Given the description of an element on the screen output the (x, y) to click on. 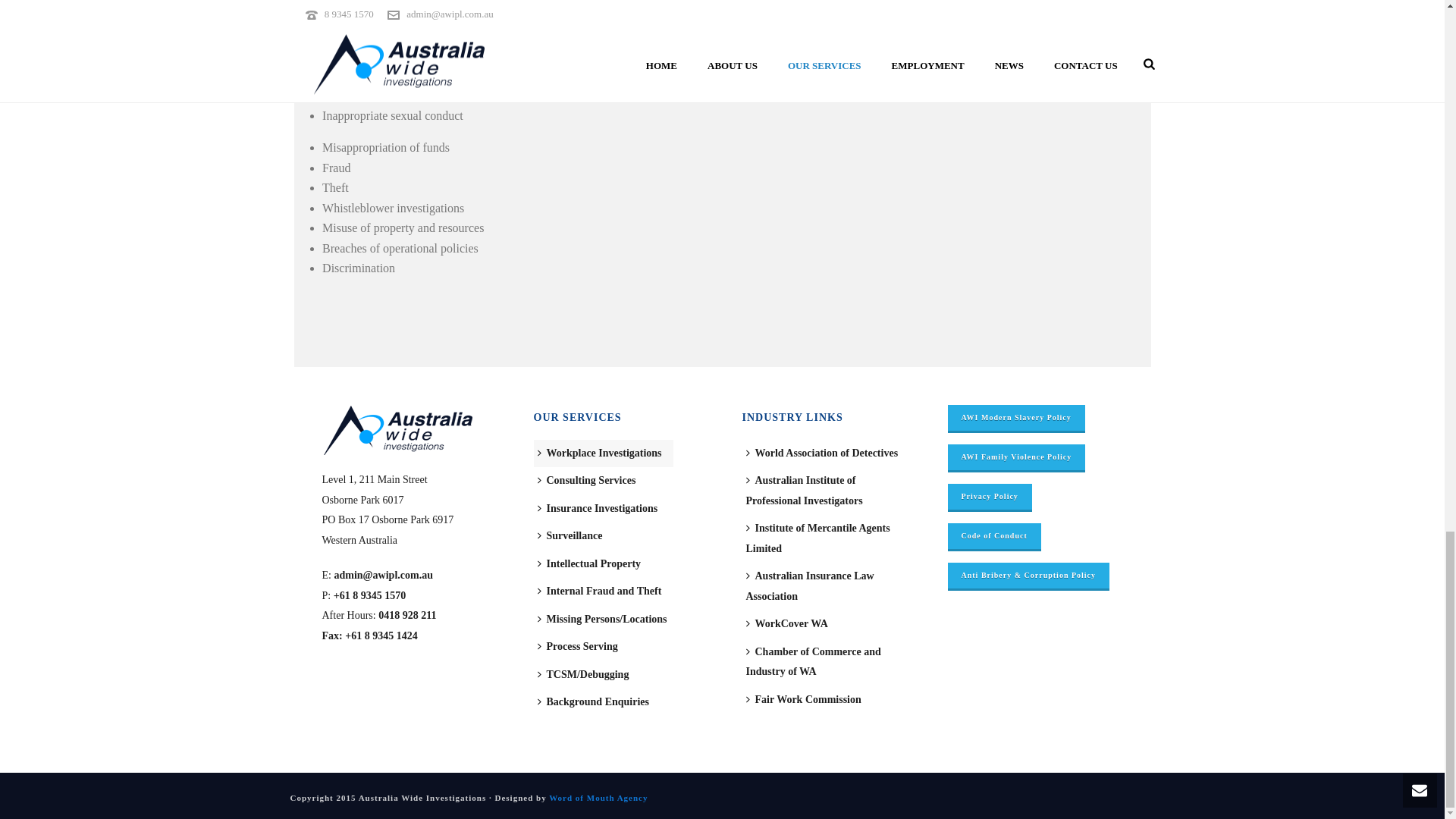
AWI Family Violence Policy (1016, 457)
AWI Modern Slavery Policy (1015, 417)
Code of Conduct (994, 535)
Privacy Policy (989, 496)
